Given the description of an element on the screen output the (x, y) to click on. 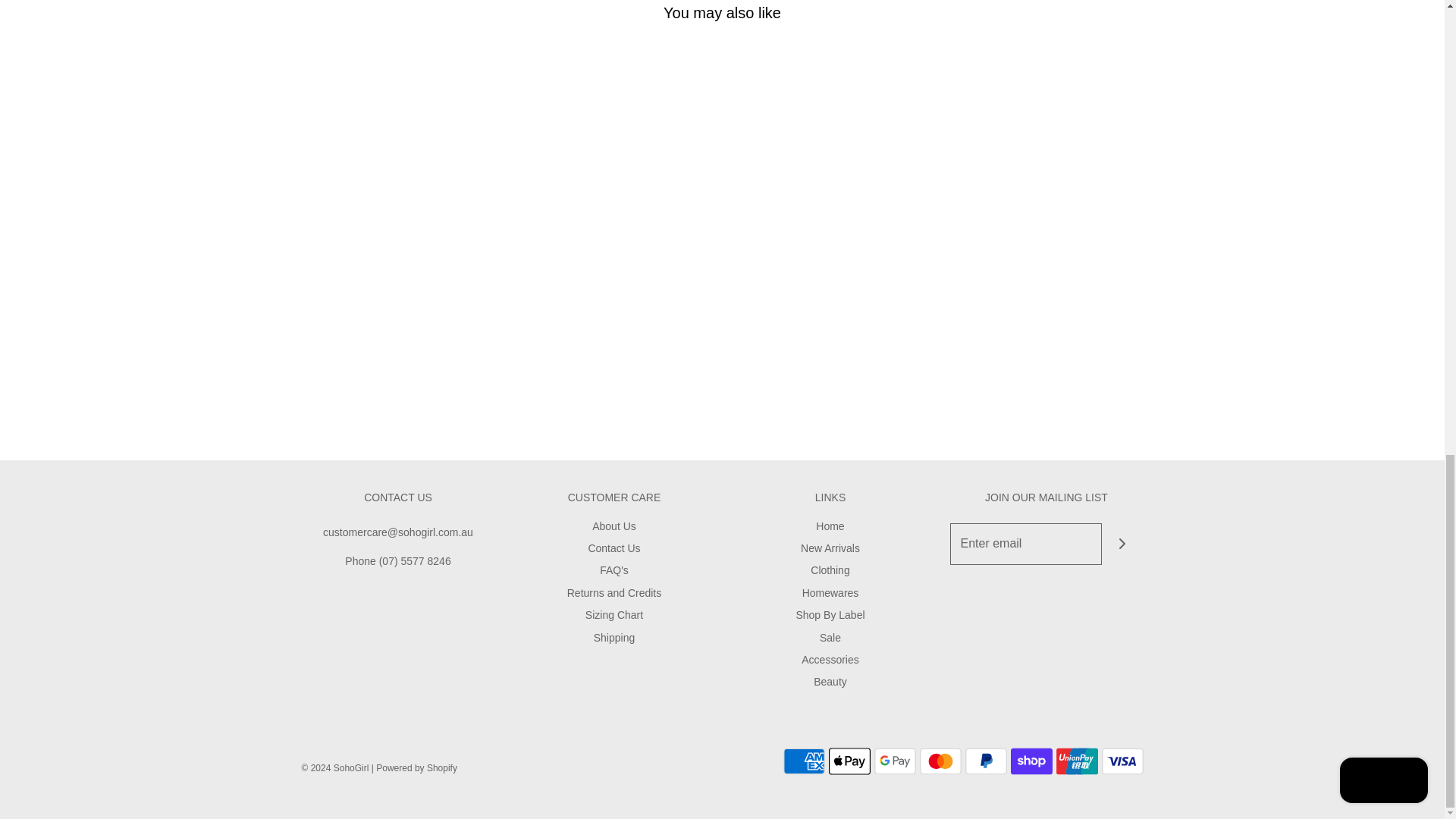
Shop Pay (1030, 761)
PayPal (984, 761)
Mastercard (939, 761)
Union Pay (1076, 761)
Google Pay (894, 761)
Apple Pay (848, 761)
American Express (803, 761)
